Given the description of an element on the screen output the (x, y) to click on. 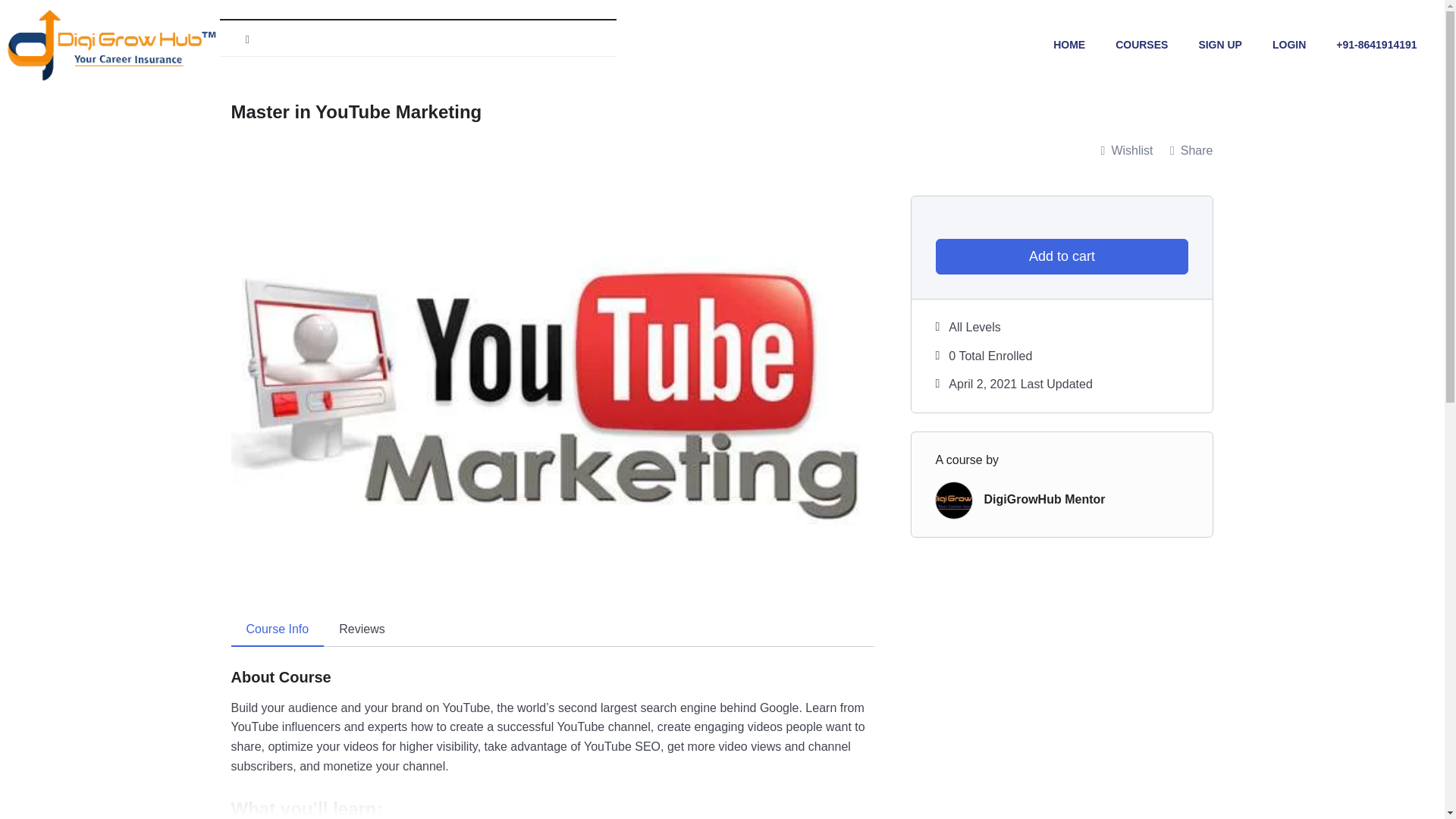
. (417, 37)
SIGN UP (1219, 44)
. (238, 38)
COURSES (1141, 44)
Skip to content (11, 31)
LOGIN (1288, 44)
HOME (1069, 44)
